Given the description of an element on the screen output the (x, y) to click on. 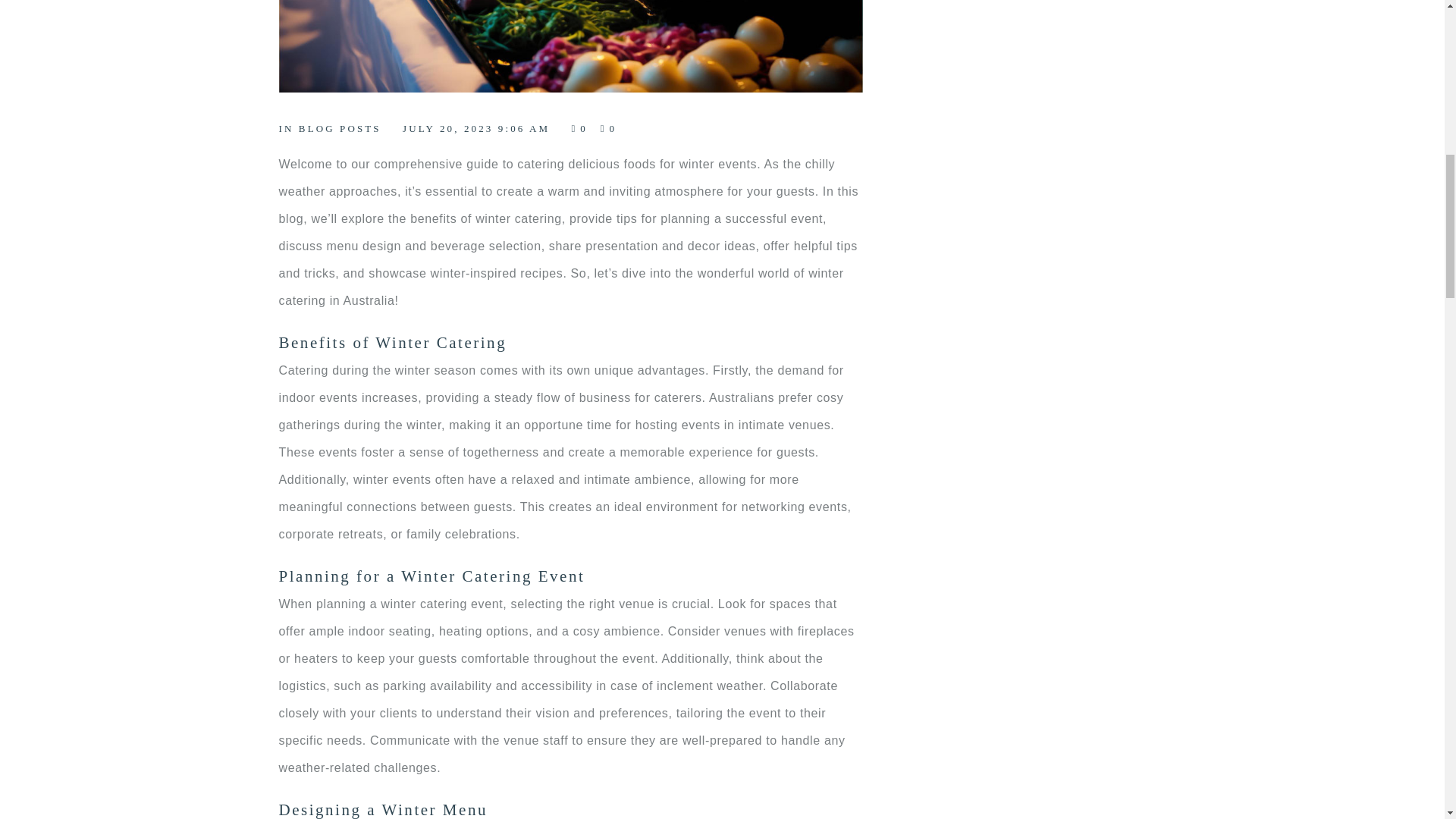
0 (607, 128)
Comments - 0 (607, 128)
0 (580, 128)
BLOG POSTS (339, 128)
JULY 20, 2023 9:06 AM (476, 128)
Like (580, 128)
